Given the description of an element on the screen output the (x, y) to click on. 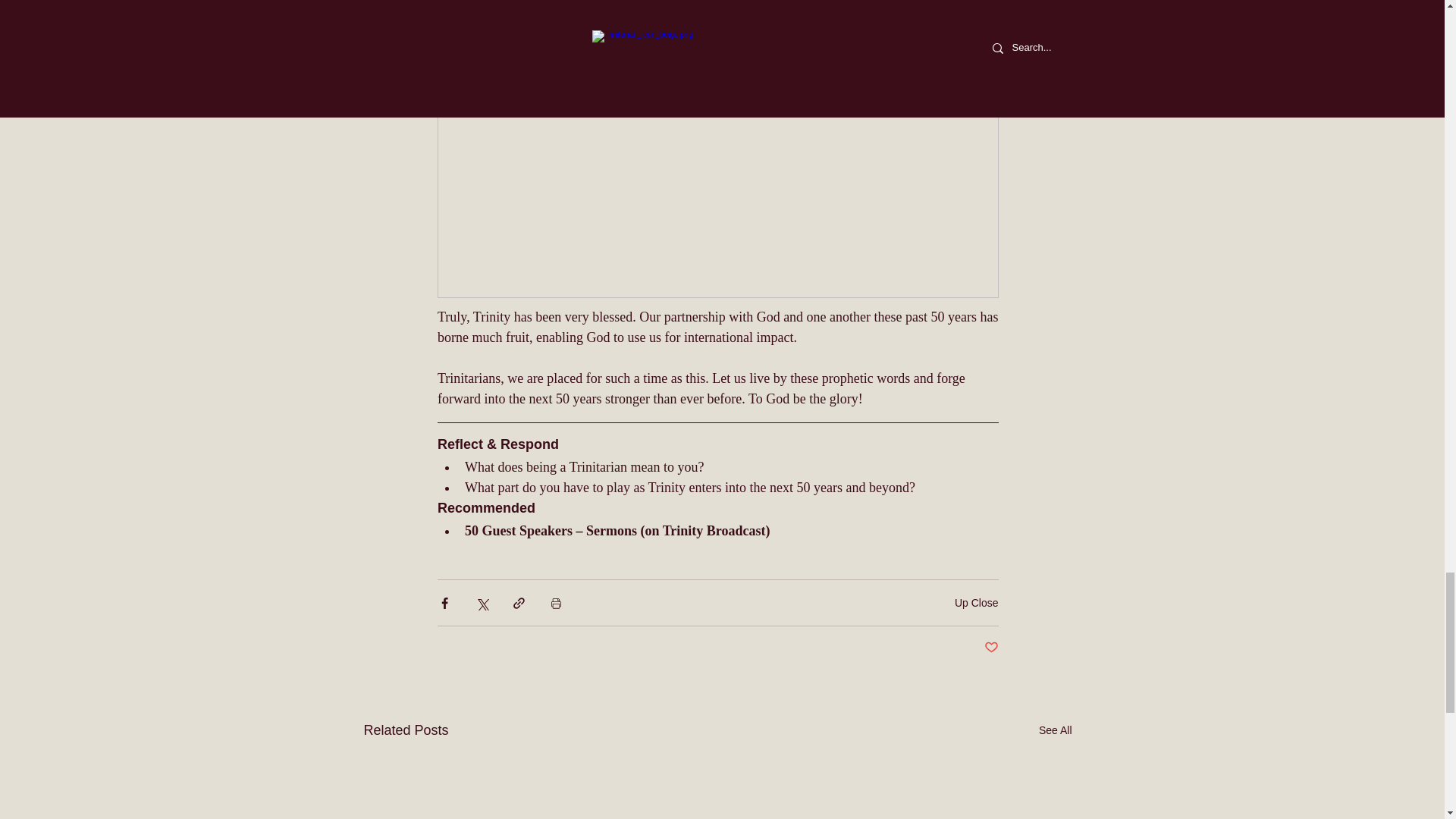
Up Close (976, 603)
Post not marked as liked (991, 647)
See All (1055, 730)
